Given the description of an element on the screen output the (x, y) to click on. 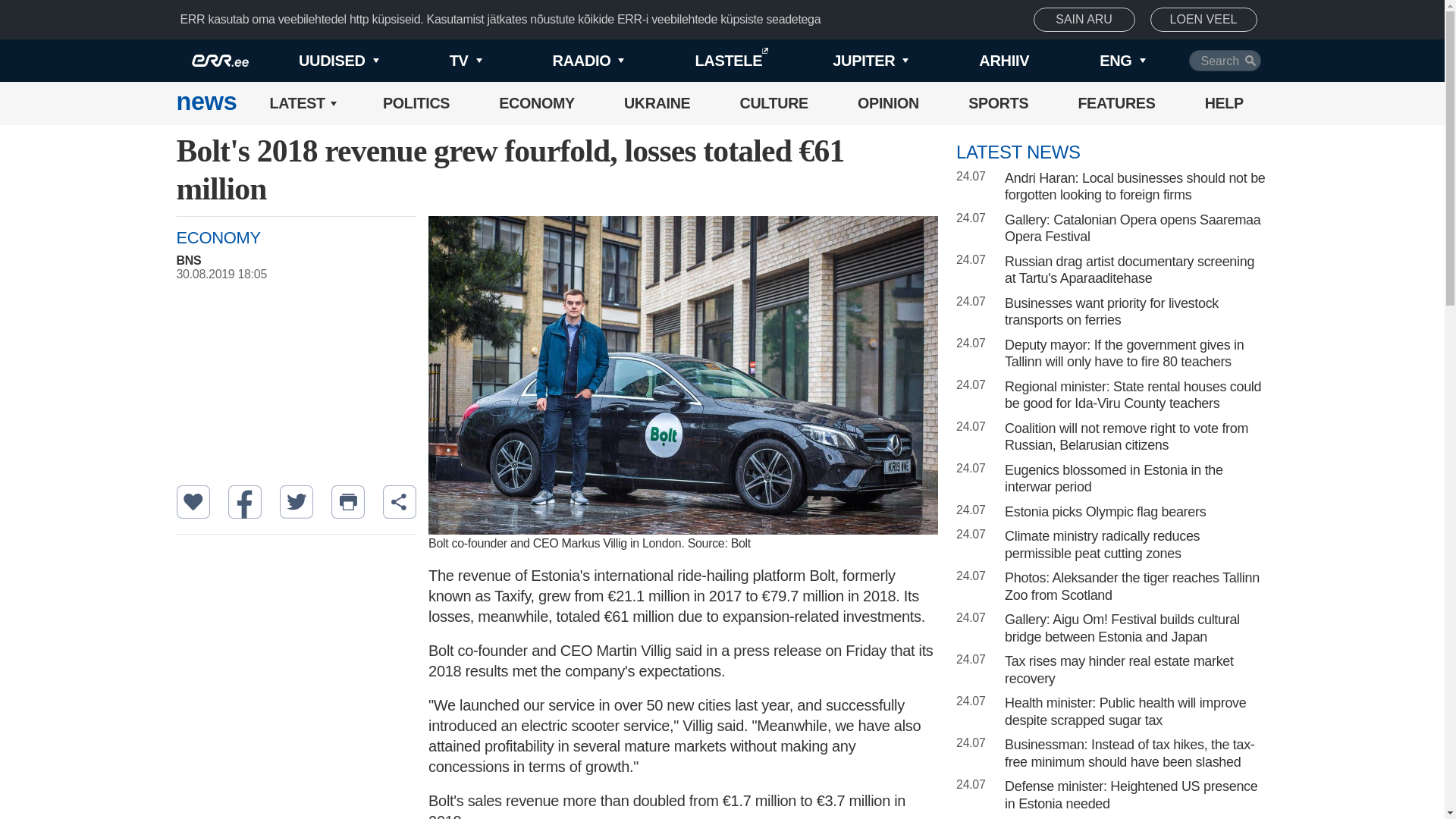
LOEN VEEL (1203, 19)
30.08.2019 18:05 (302, 274)
TV (440, 60)
SAIN ARU (1084, 19)
Avalehele (205, 103)
RAADIO (563, 60)
UUDISED (314, 60)
